Given the description of an element on the screen output the (x, y) to click on. 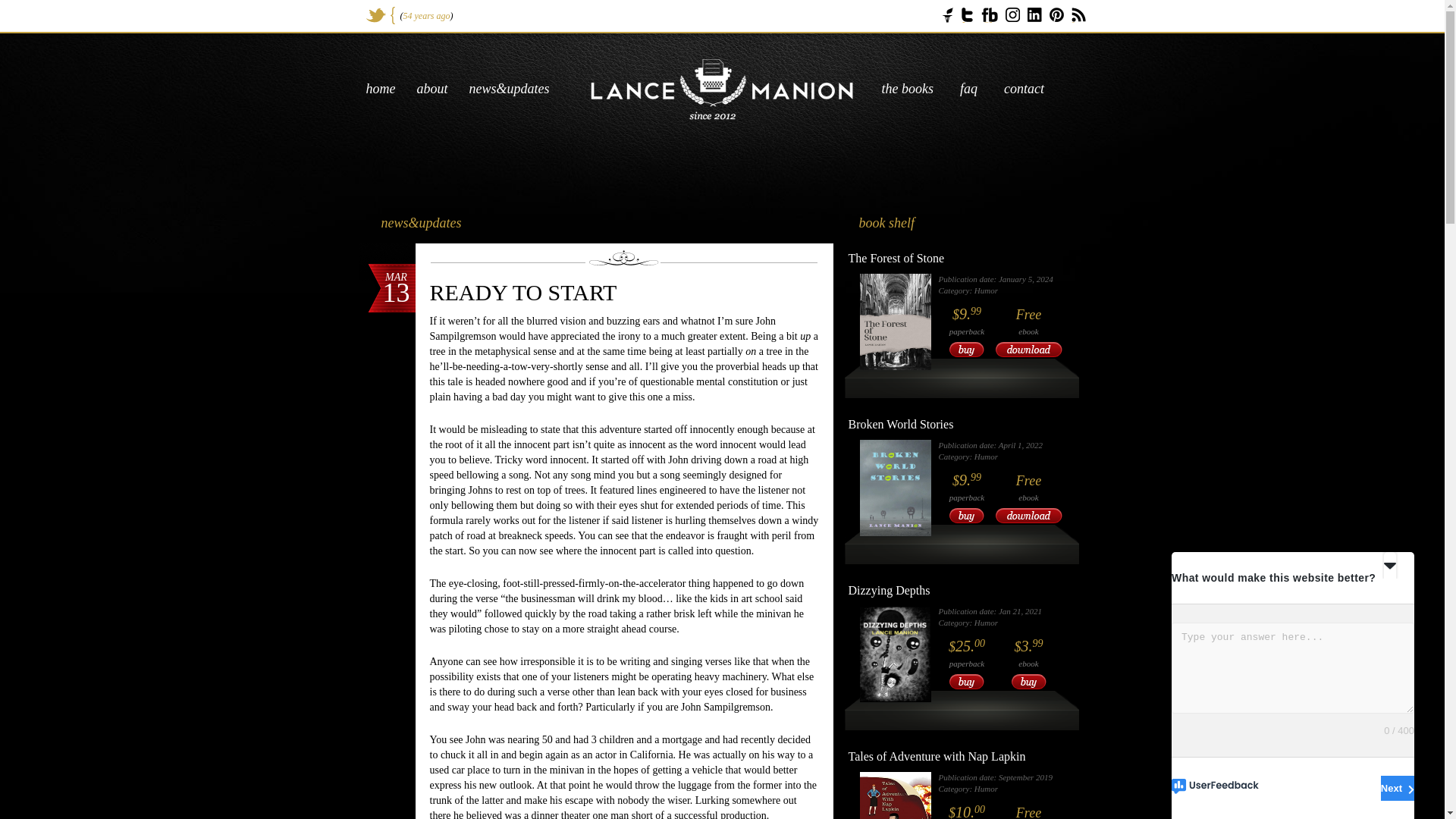
Rss (1078, 14)
contact (1023, 88)
faq (967, 88)
the books (906, 88)
Pinterest (1056, 14)
Lance Manion (722, 89)
home (379, 88)
Instagram (1013, 14)
LinkedIn (1033, 14)
about (432, 88)
Facebook (989, 14)
